Given the description of an element on the screen output the (x, y) to click on. 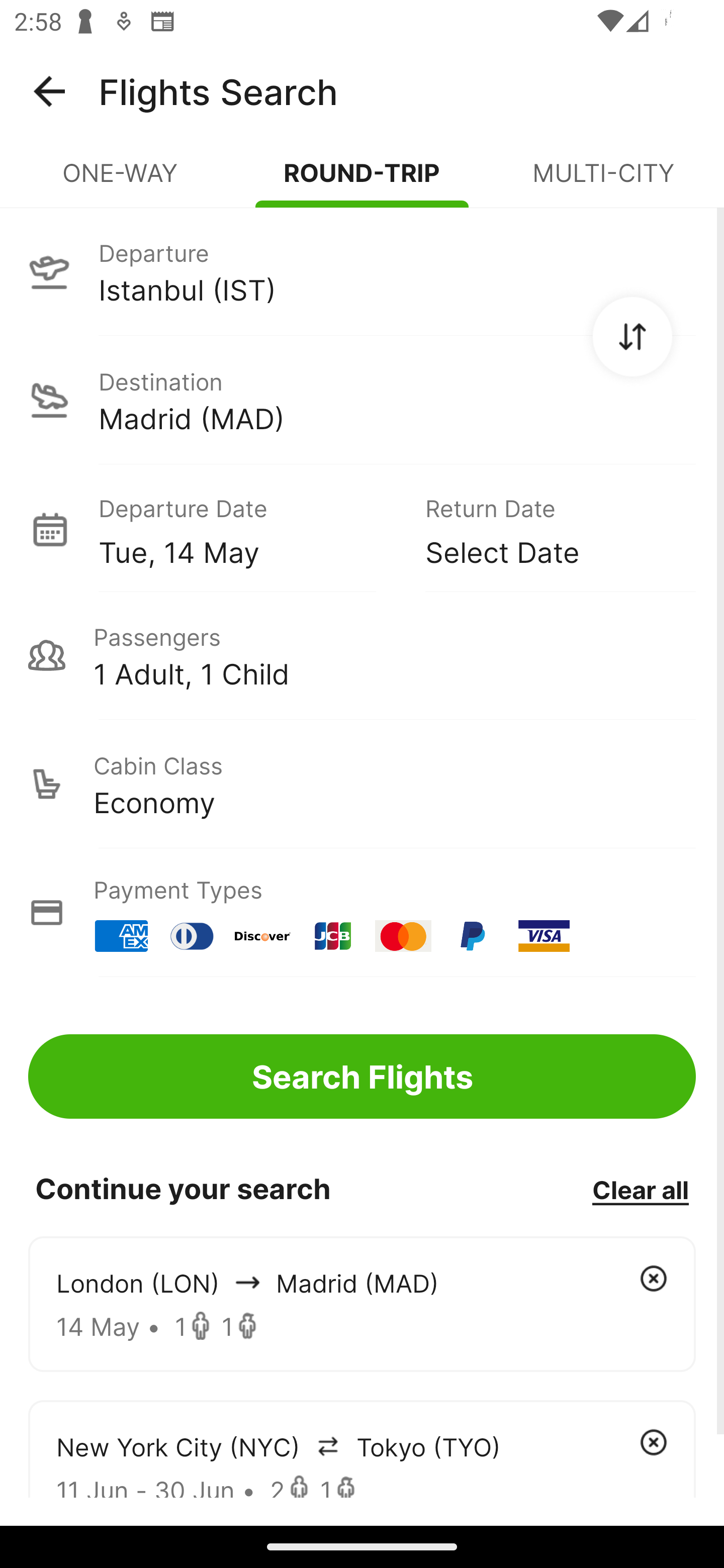
ONE-WAY (120, 180)
ROUND-TRIP (361, 180)
MULTI-CITY (603, 180)
Departure Istanbul (IST) (362, 270)
Destination Madrid (MAD) (362, 400)
Departure Date Tue, 14 May (247, 528)
Return Date Select Date (546, 528)
Passengers 1 Adult, 1 Child (362, 655)
Cabin Class Economy (362, 783)
Payment Types (362, 912)
Search Flights (361, 1075)
Clear all (640, 1189)
